Given the description of an element on the screen output the (x, y) to click on. 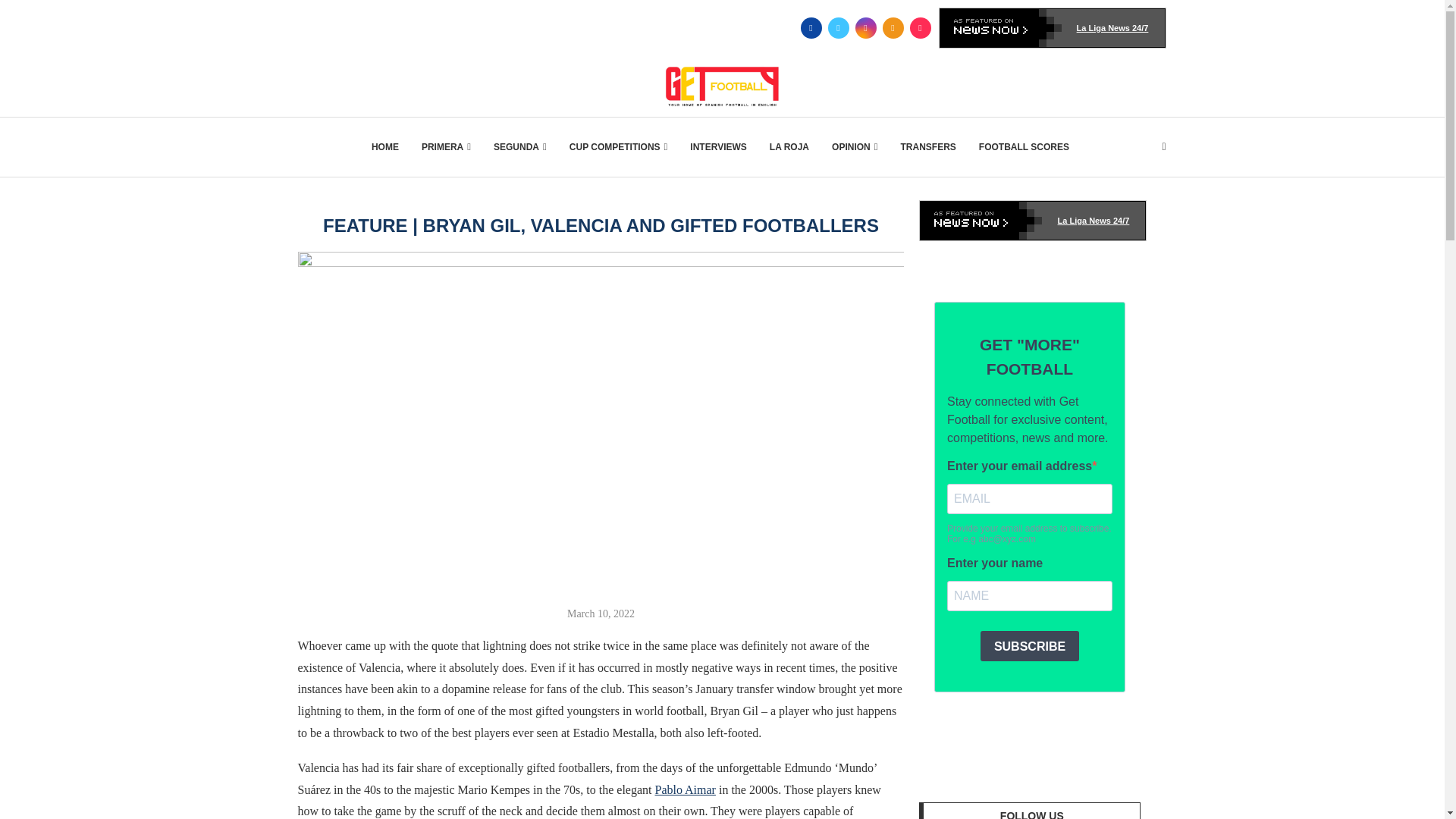
Click here for more La Liga news from NewsNow (1032, 219)
SEGUNDA (520, 146)
Click here for more La Liga news from NewsNow (1052, 27)
PRIMERA (446, 146)
